Given the description of an element on the screen output the (x, y) to click on. 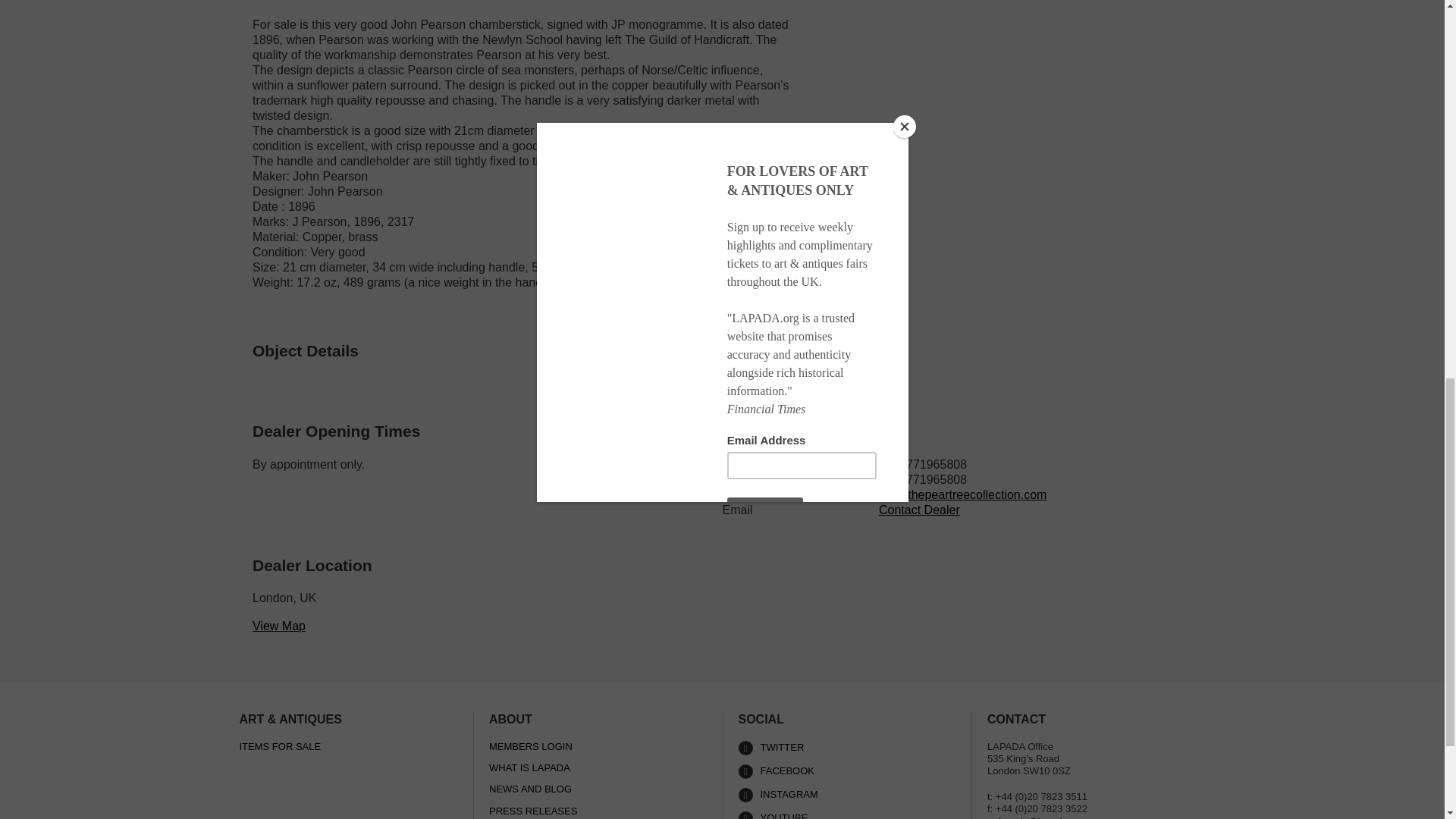
Learn more about LAPADA (847, 815)
Follow us on Twitter (847, 748)
Like us on Facebook (847, 771)
